Given the description of an element on the screen output the (x, y) to click on. 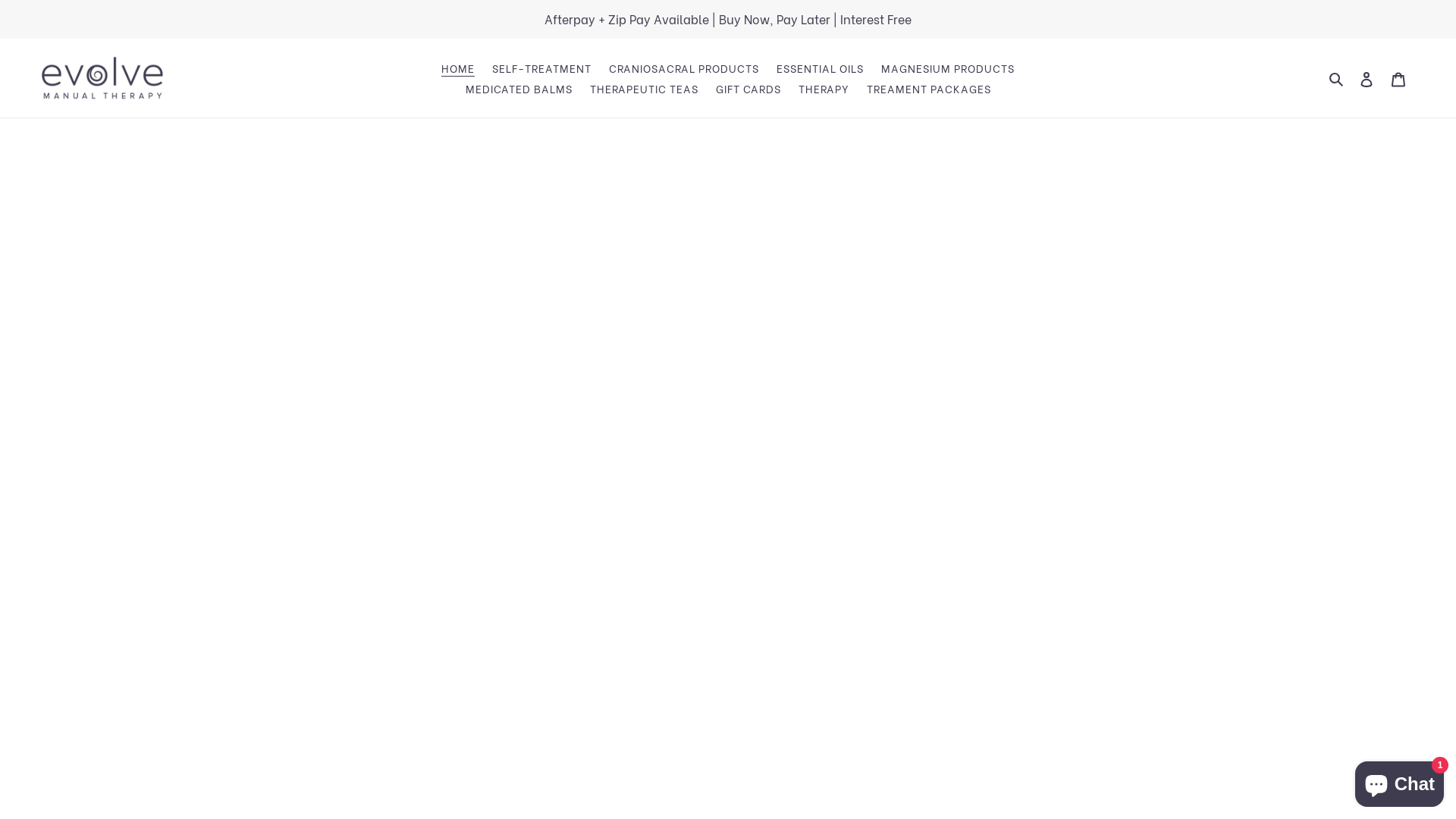
ESSENTIAL OILS Element type: text (819, 67)
SELF-TREATMENT Element type: text (541, 67)
Search Element type: text (1337, 78)
MAGNESIUM PRODUCTS Element type: text (947, 67)
THERAPY Element type: text (823, 88)
Cart Element type: text (1398, 77)
CRANIOSACRAL PRODUCTS Element type: text (683, 67)
Log in Element type: text (1366, 77)
THERAPEUTIC TEAS Element type: text (644, 88)
HOME Element type: text (457, 67)
GIFT CARDS Element type: text (748, 88)
MEDICATED BALMS Element type: text (519, 88)
TREAMENT PACKAGES Element type: text (927, 88)
Shopify online store chat Element type: hover (1399, 780)
